Given the description of an element on the screen output the (x, y) to click on. 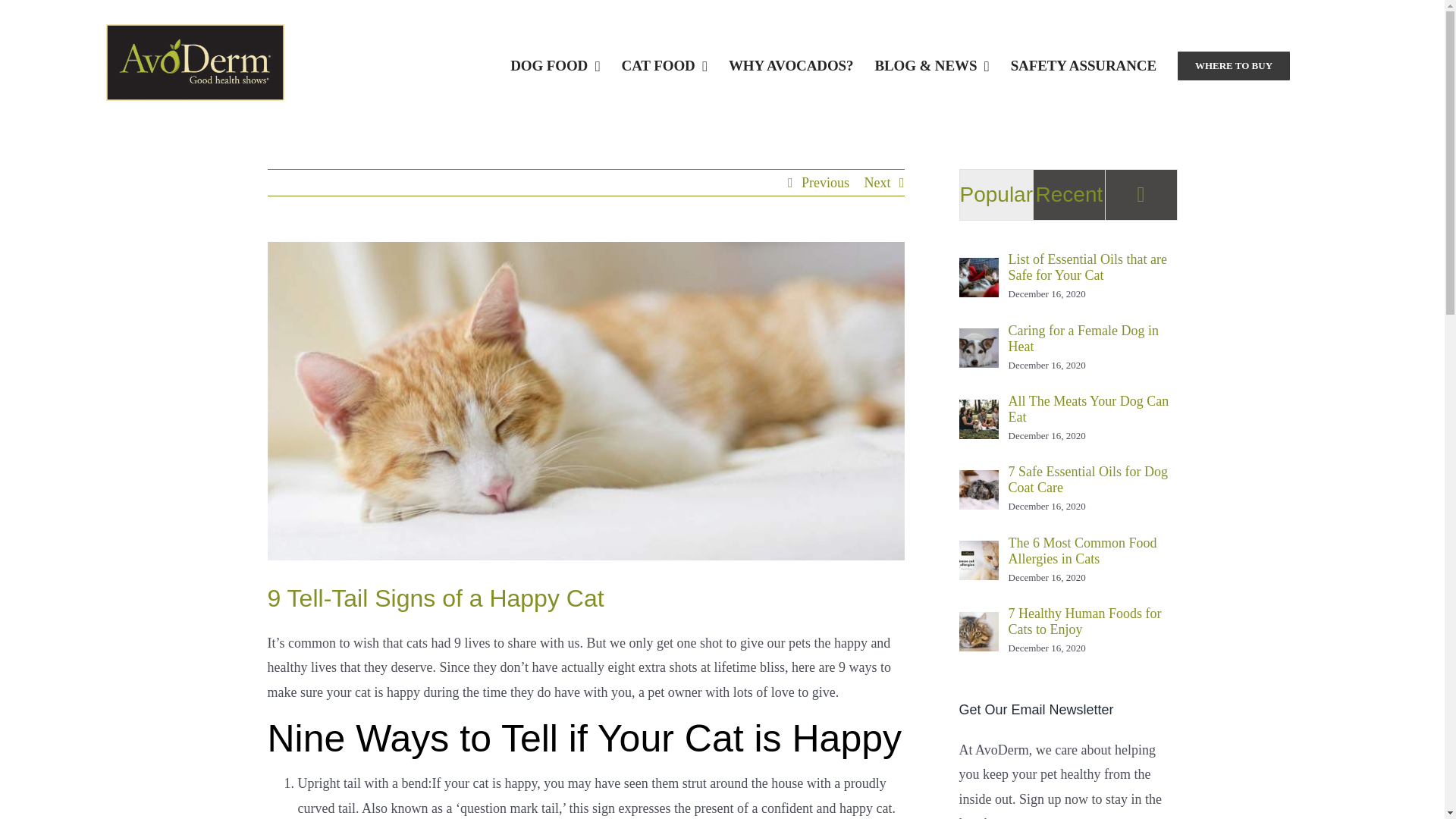
Next (877, 182)
Previous (825, 182)
WHERE TO BUY (1233, 65)
WHY AVOCADOS? (791, 65)
DOG FOOD (555, 65)
CAT FOOD (664, 65)
SAFETY ASSURANCE (1083, 65)
